Given the description of an element on the screen output the (x, y) to click on. 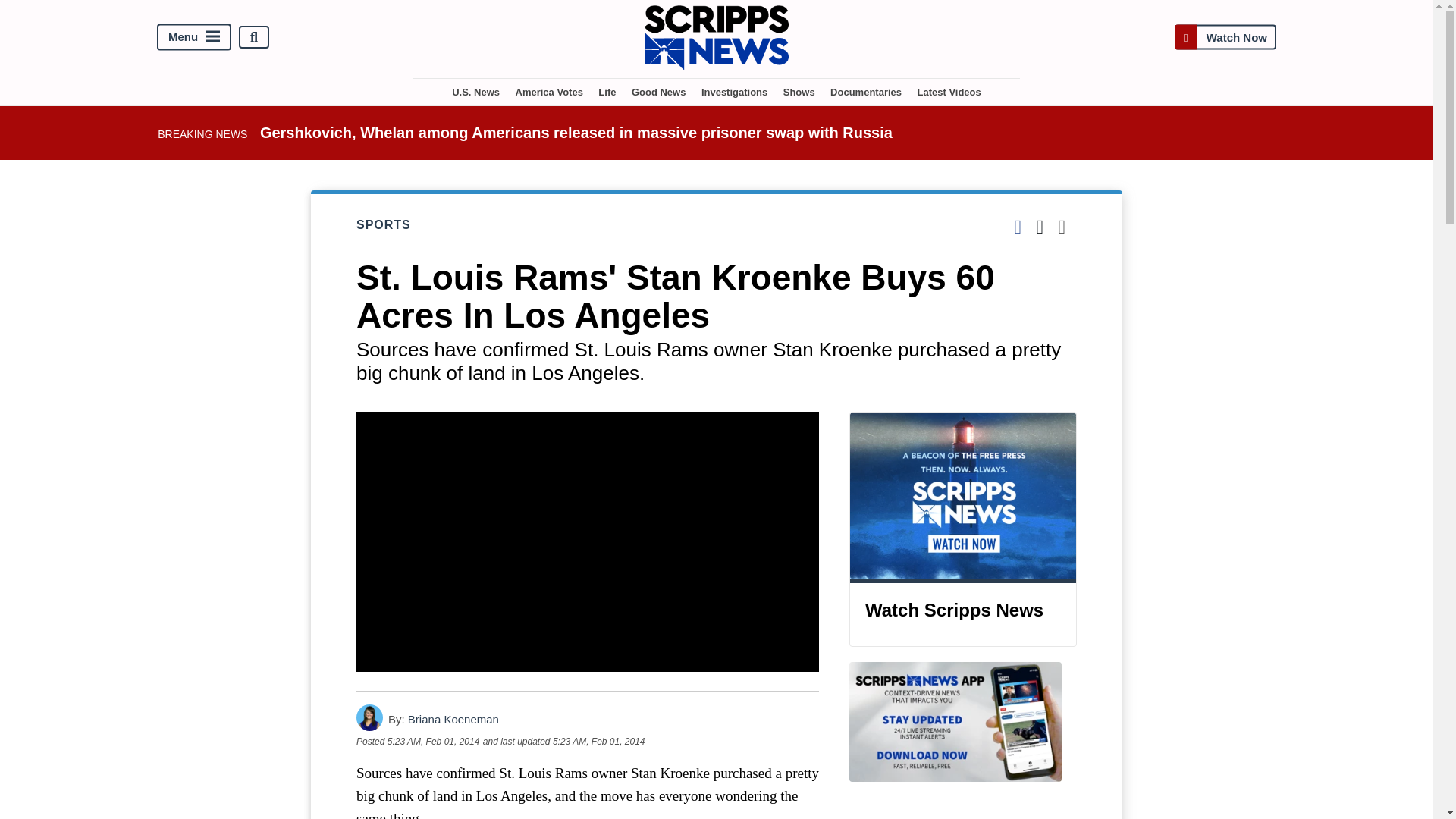
Menu (194, 37)
Watch Now (1224, 37)
